Given the description of an element on the screen output the (x, y) to click on. 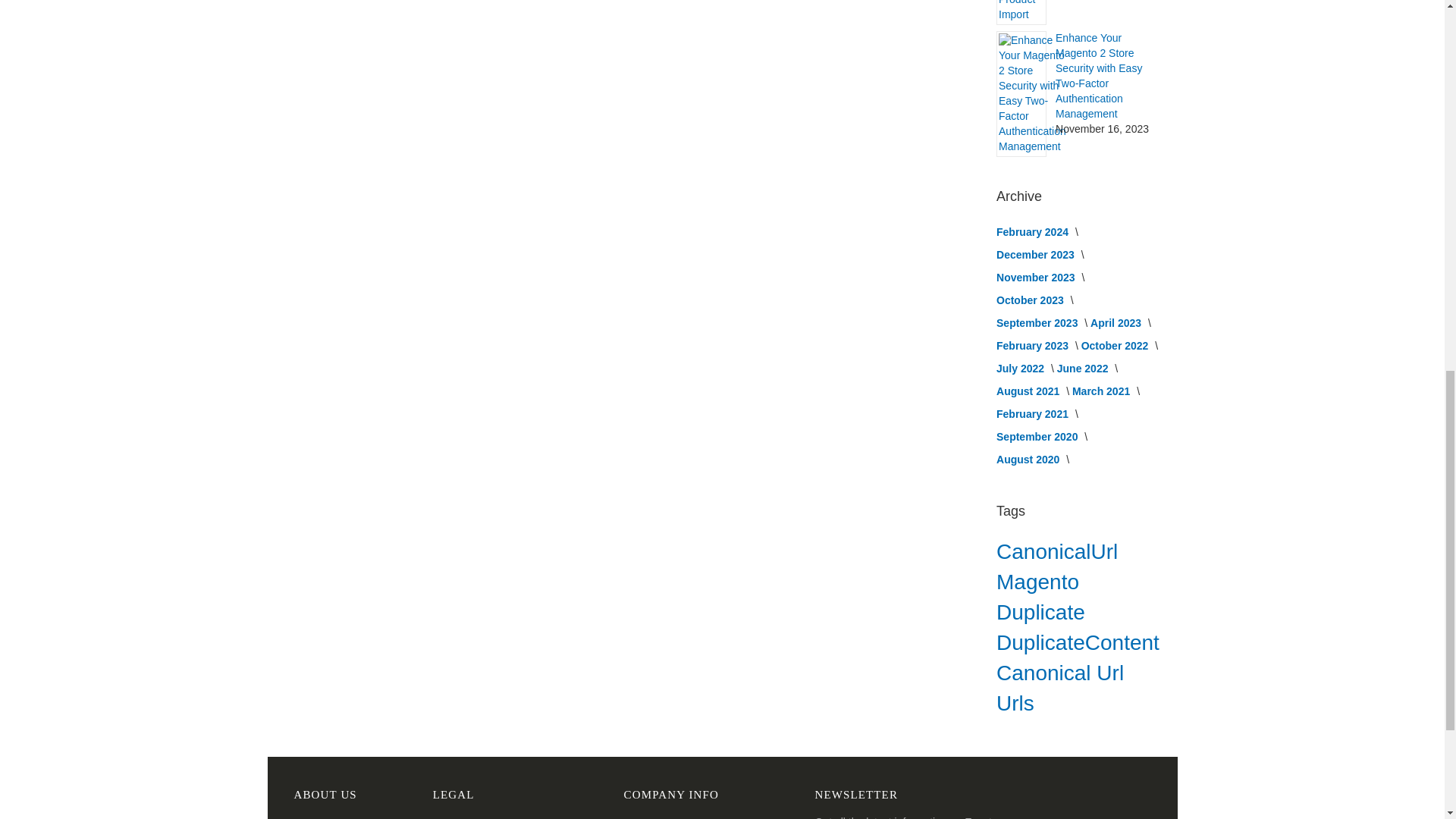
November 2023 (1036, 277)
October 2023 (1031, 300)
December 2023 (1036, 254)
Fixing Magento Issue with Downloadable Product Import (1031, 11)
February 2024 (1033, 232)
